Given the description of an element on the screen output the (x, y) to click on. 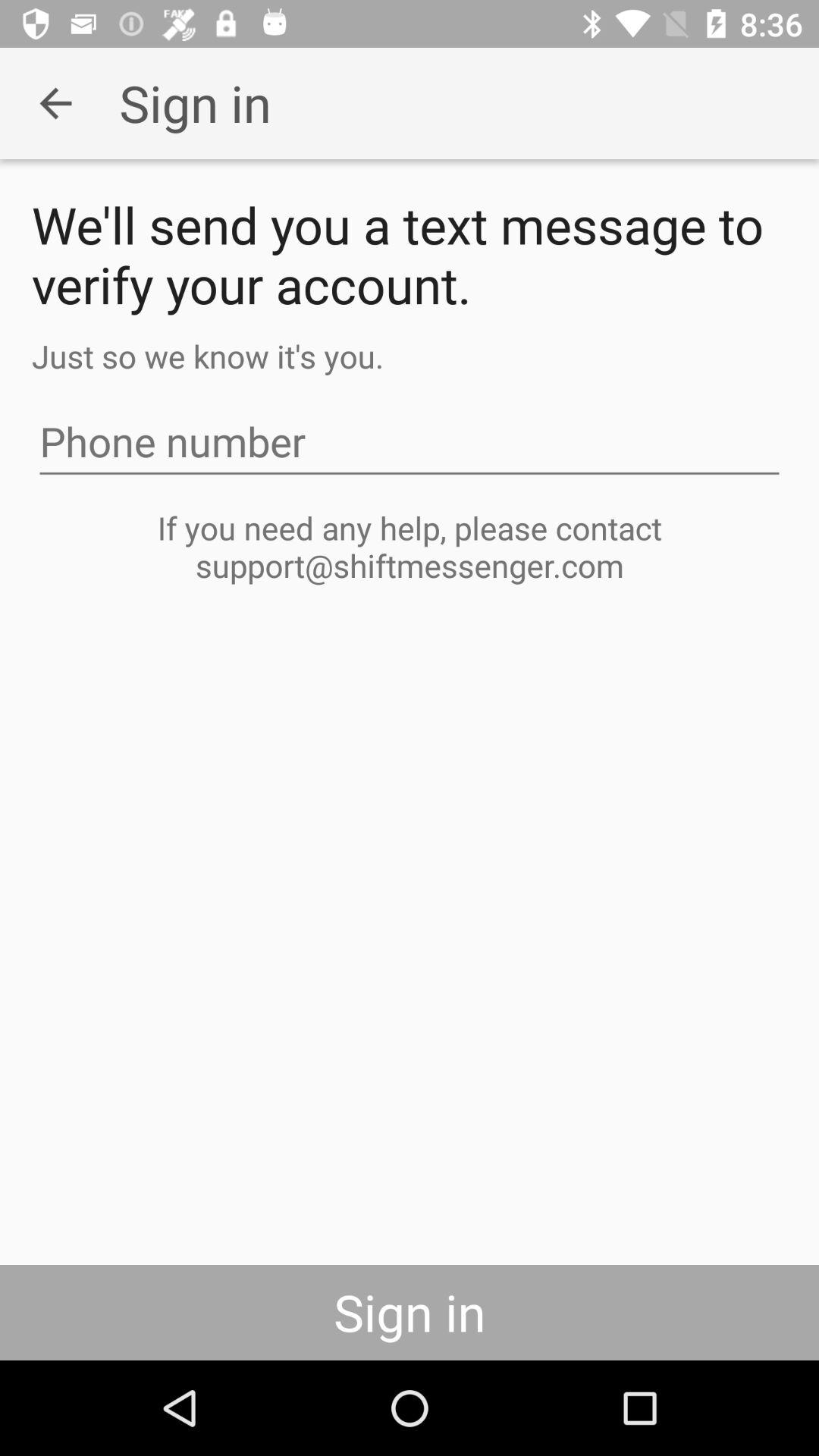
select item below just so we item (409, 441)
